Given the description of an element on the screen output the (x, y) to click on. 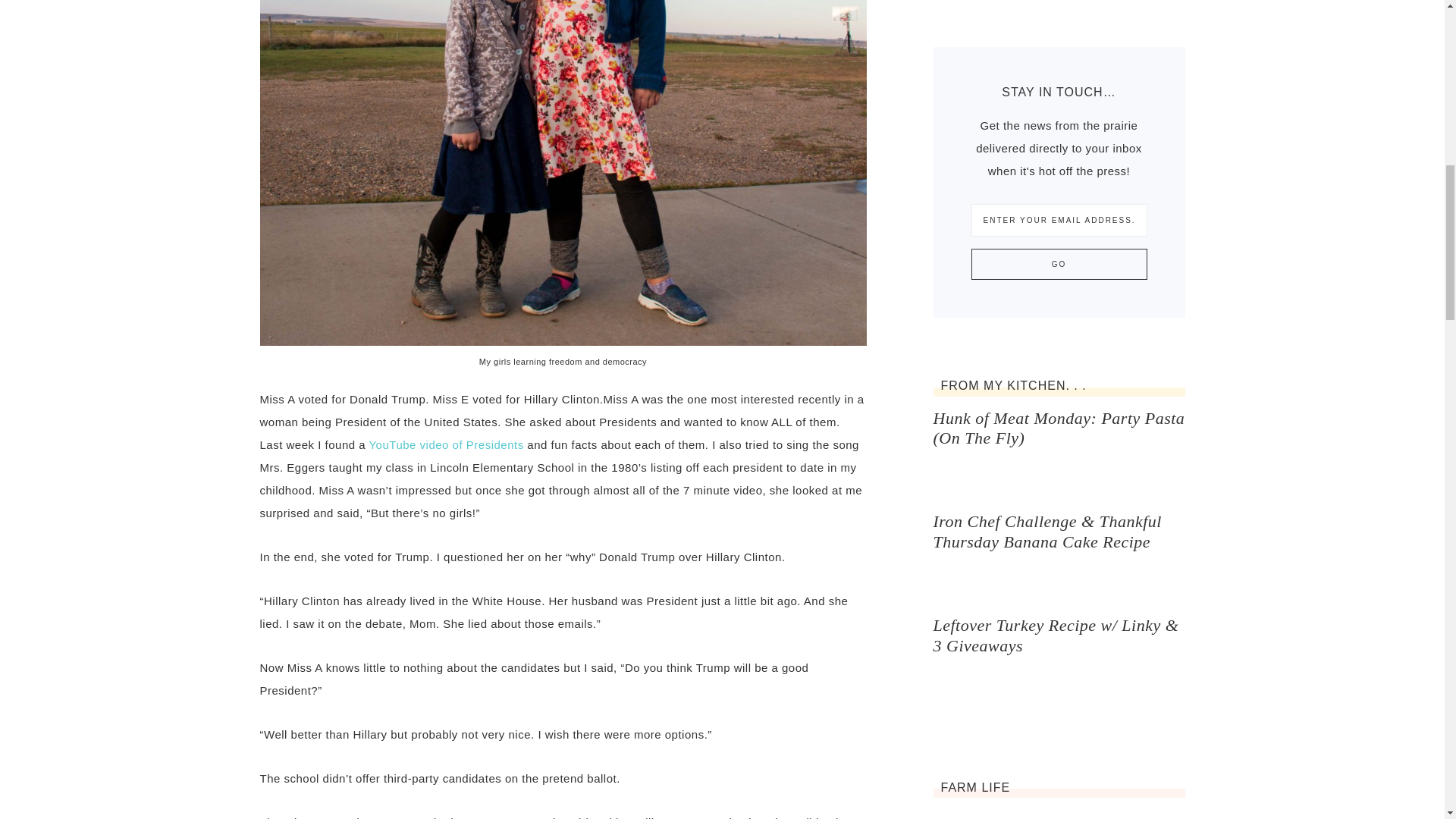
Go (1059, 264)
Go (1059, 264)
YouTube video of Presidents (445, 444)
